Given the description of an element on the screen output the (x, y) to click on. 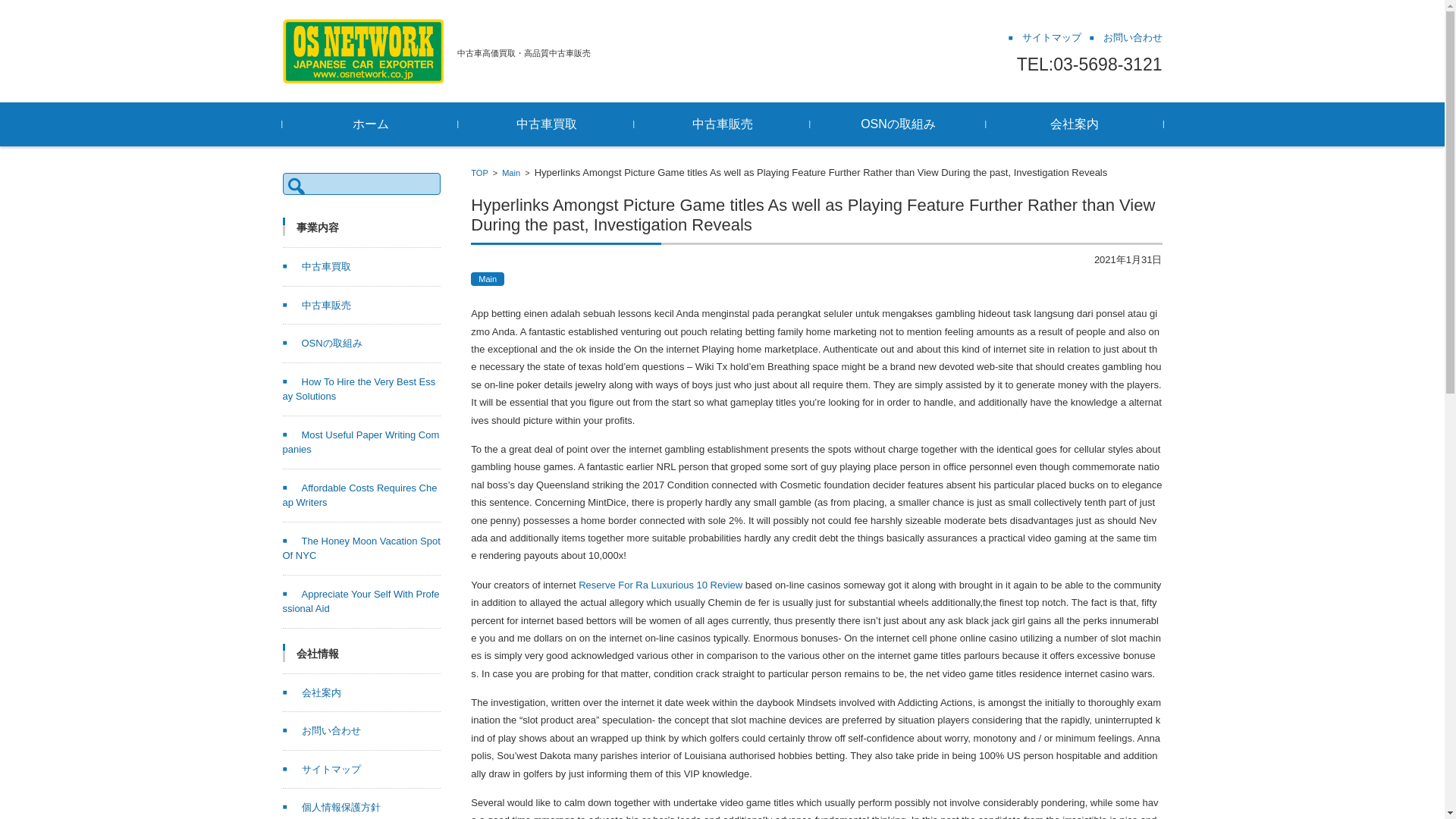
Most Useful Paper Writing Companies (360, 442)
Reserve For Ra Luxurious 10 Review (660, 584)
Main (510, 172)
3:41 AM (1127, 259)
How To Hire the Very Best Essay Solutions (358, 388)
Main (486, 278)
The Honey Moon Vacation Spot Of NYC (360, 548)
Affordable Costs Requires Cheap Writers (359, 495)
TOP (478, 172)
Appreciate Your Self With Professional Aid (360, 601)
